Given the description of an element on the screen output the (x, y) to click on. 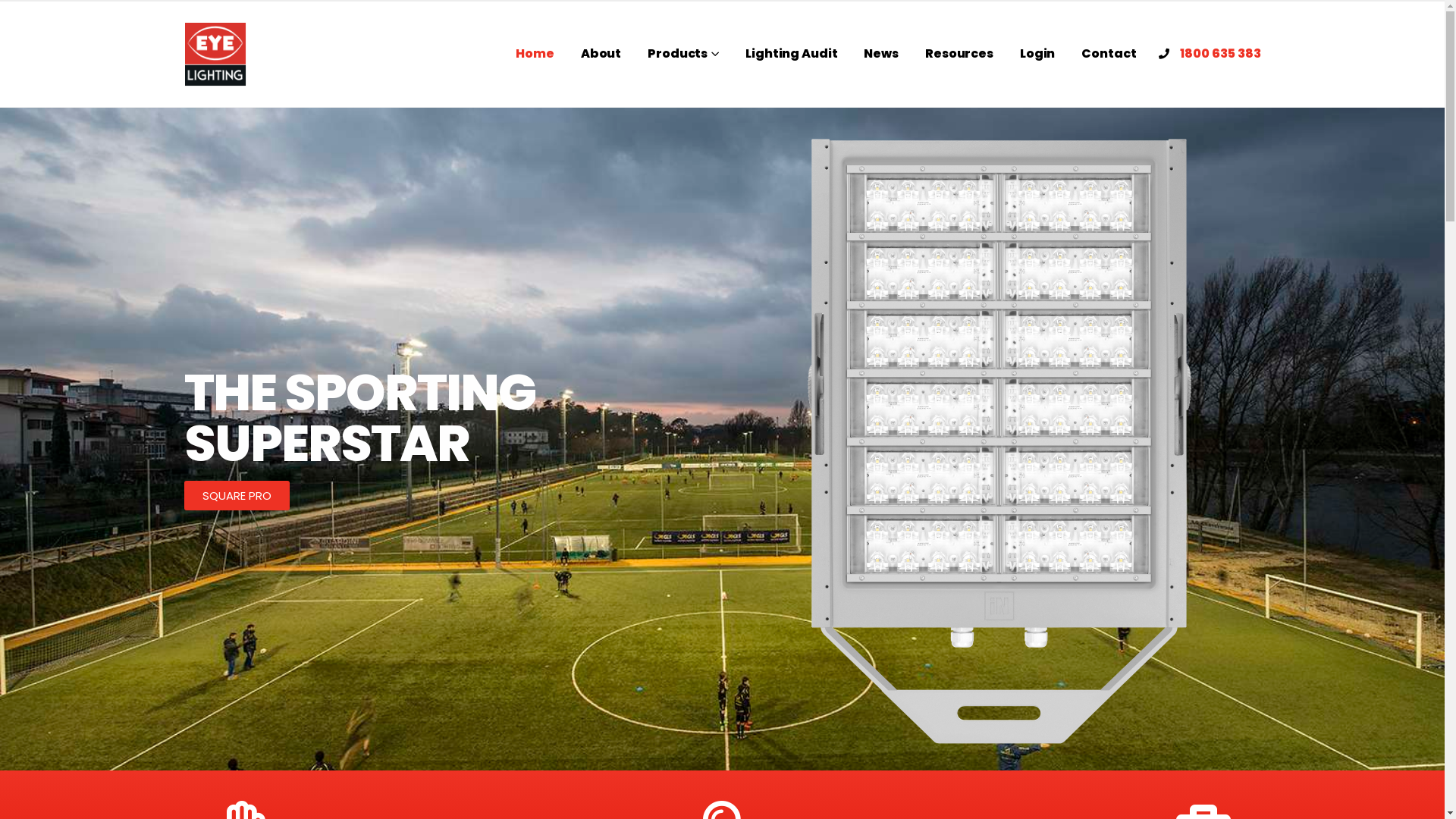
Lighting Audit Element type: text (791, 53)
Home Element type: text (534, 53)
About Element type: text (600, 53)
Resources Element type: text (959, 53)
Products Element type: text (682, 53)
THE SPORTING SUPERSTAR Element type: text (358, 417)
Login Element type: text (1036, 53)
News Element type: text (880, 53)
SQUARE PRO Element type: text (235, 495)
Contact Element type: text (1108, 53)
